Given the description of an element on the screen output the (x, y) to click on. 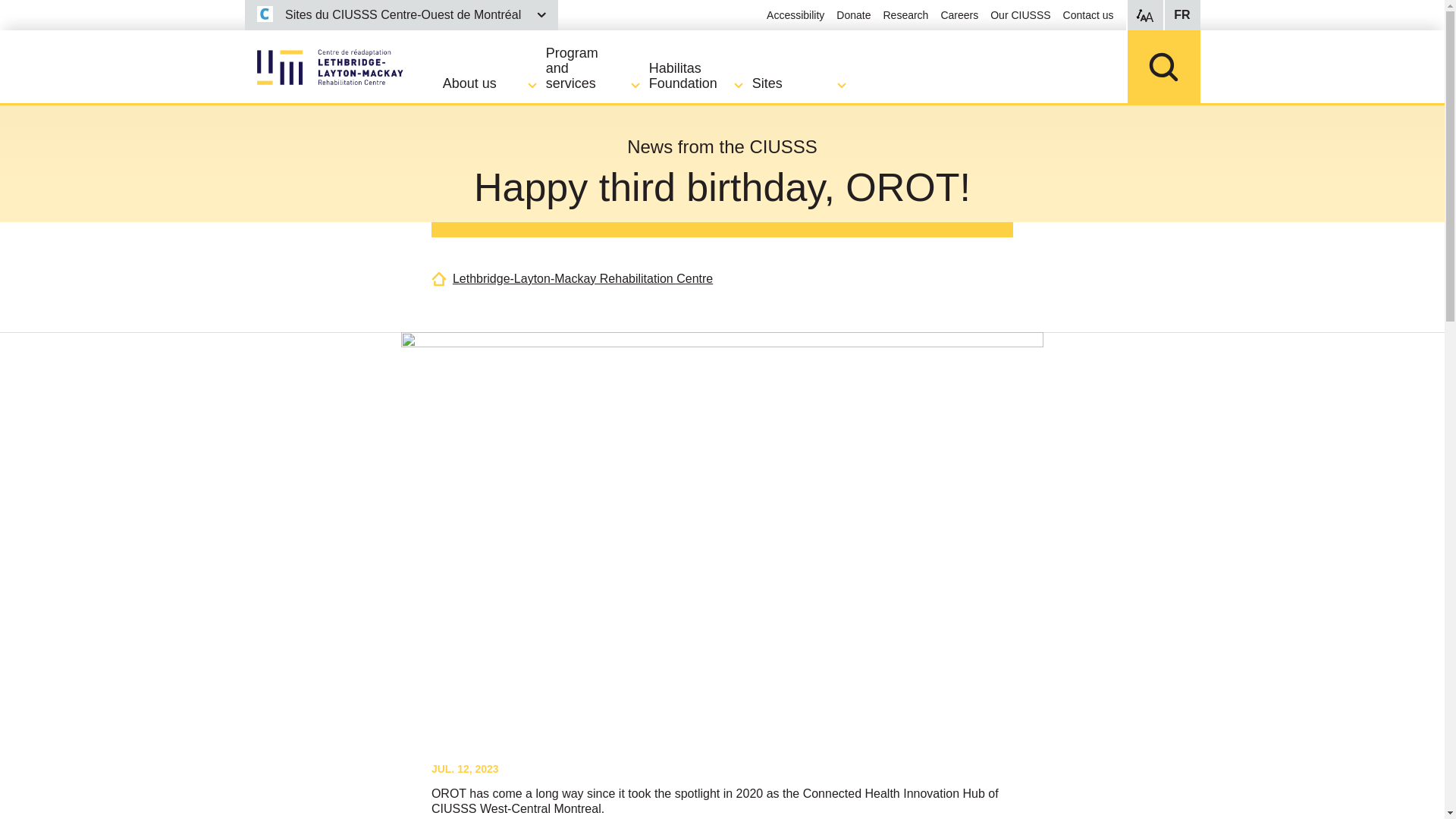
FR (1181, 15)
About us (494, 83)
